Given the description of an element on the screen output the (x, y) to click on. 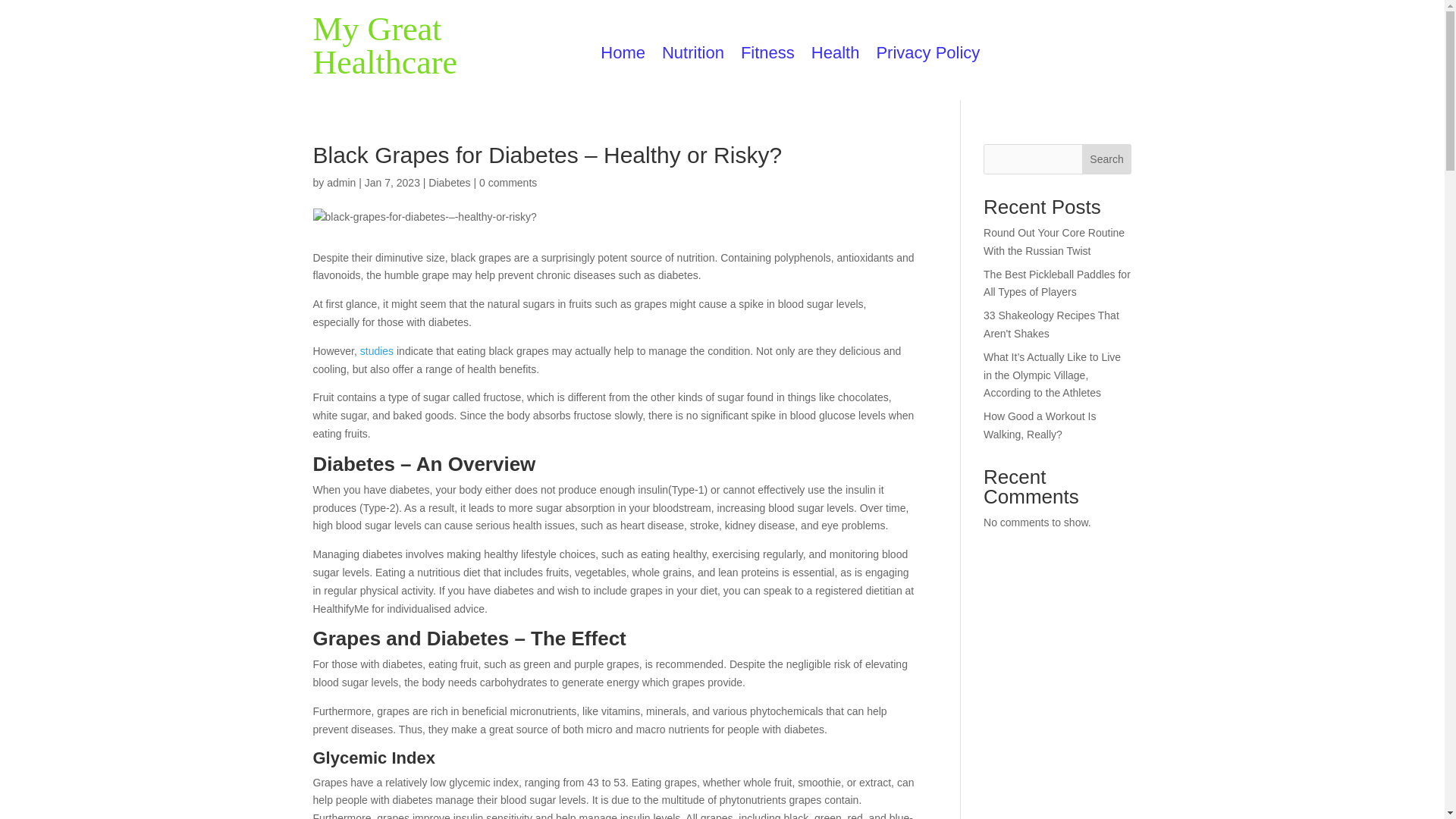
Search (1106, 159)
admin (340, 182)
Fitness (767, 55)
0 comments (508, 182)
Privacy Policy (927, 55)
Home (622, 55)
How Good a Workout Is Walking, Really? (1040, 425)
33 Shakeology Recipes That Aren't Shakes (1051, 324)
Nutrition (692, 55)
Health (835, 55)
studies (376, 350)
The Best Pickleball Paddles for All Types of Players (1057, 283)
Diabetes (449, 182)
Posts by admin (340, 182)
Round Out Your Core Routine With the Russian Twist (1054, 241)
